Given the description of an element on the screen output the (x, y) to click on. 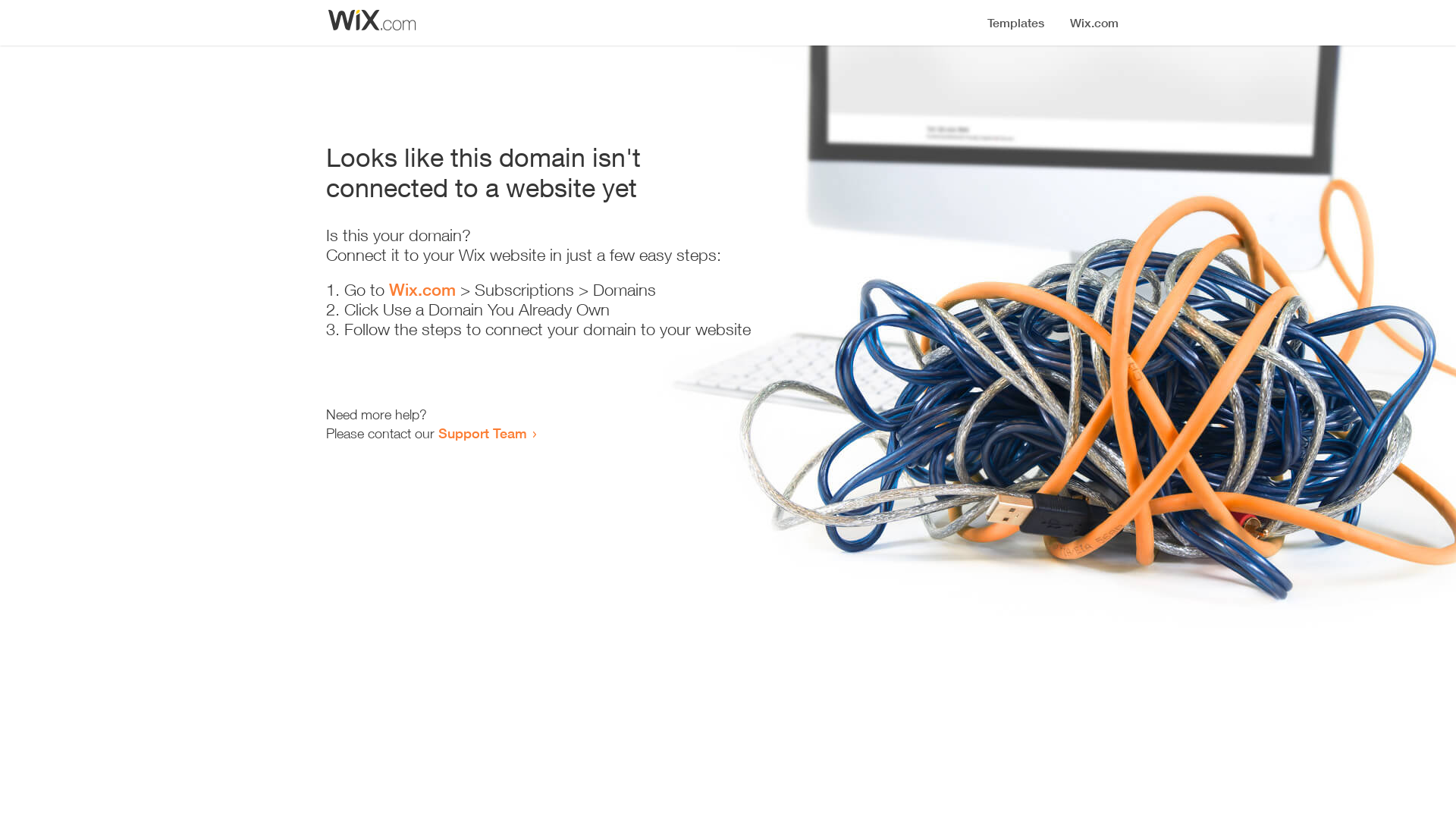
Support Team Element type: text (482, 432)
Wix.com Element type: text (422, 289)
